Given the description of an element on the screen output the (x, y) to click on. 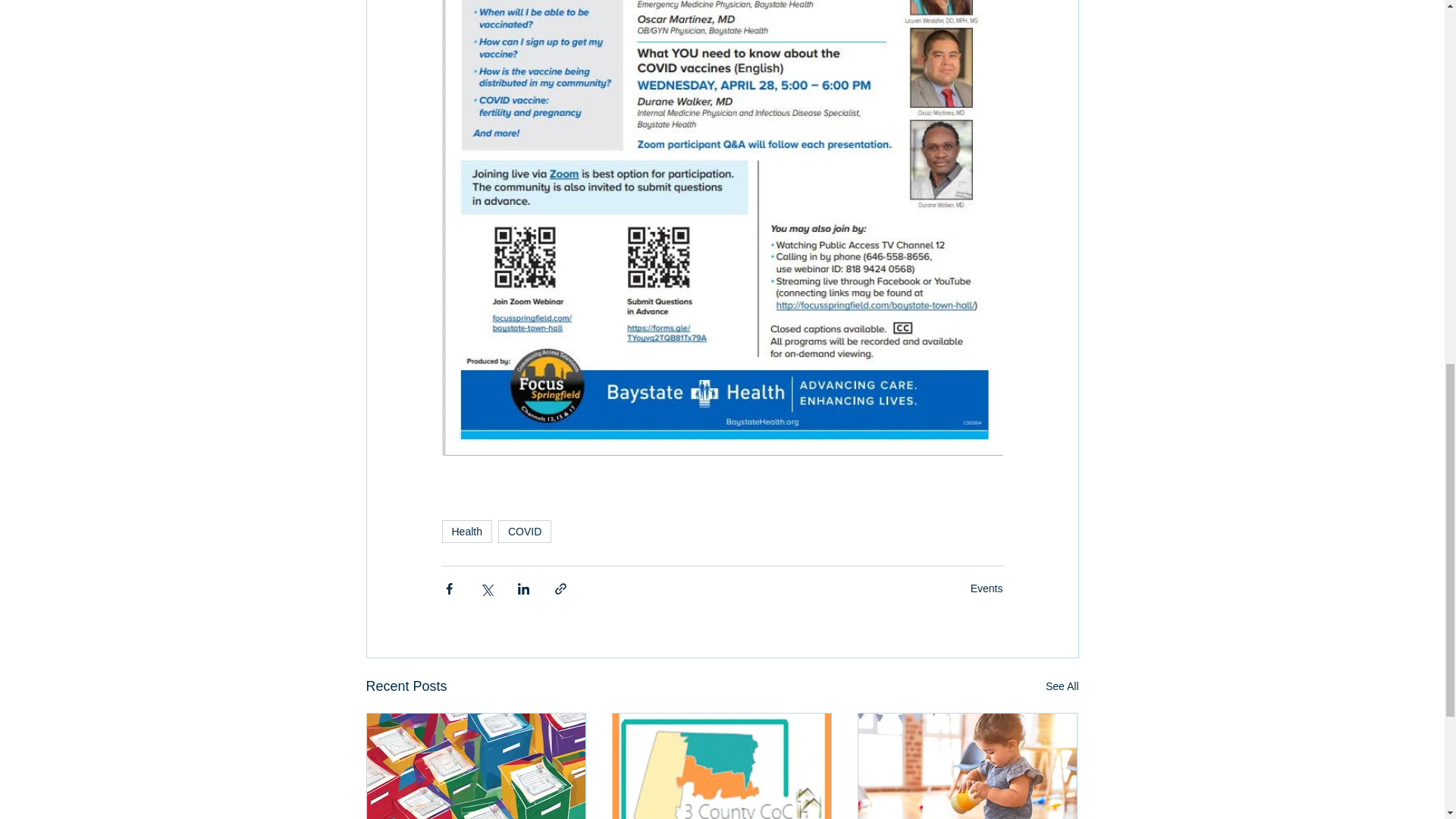
See All (1061, 686)
COVID (524, 531)
Events (987, 588)
Health (466, 531)
